Given the description of an element on the screen output the (x, y) to click on. 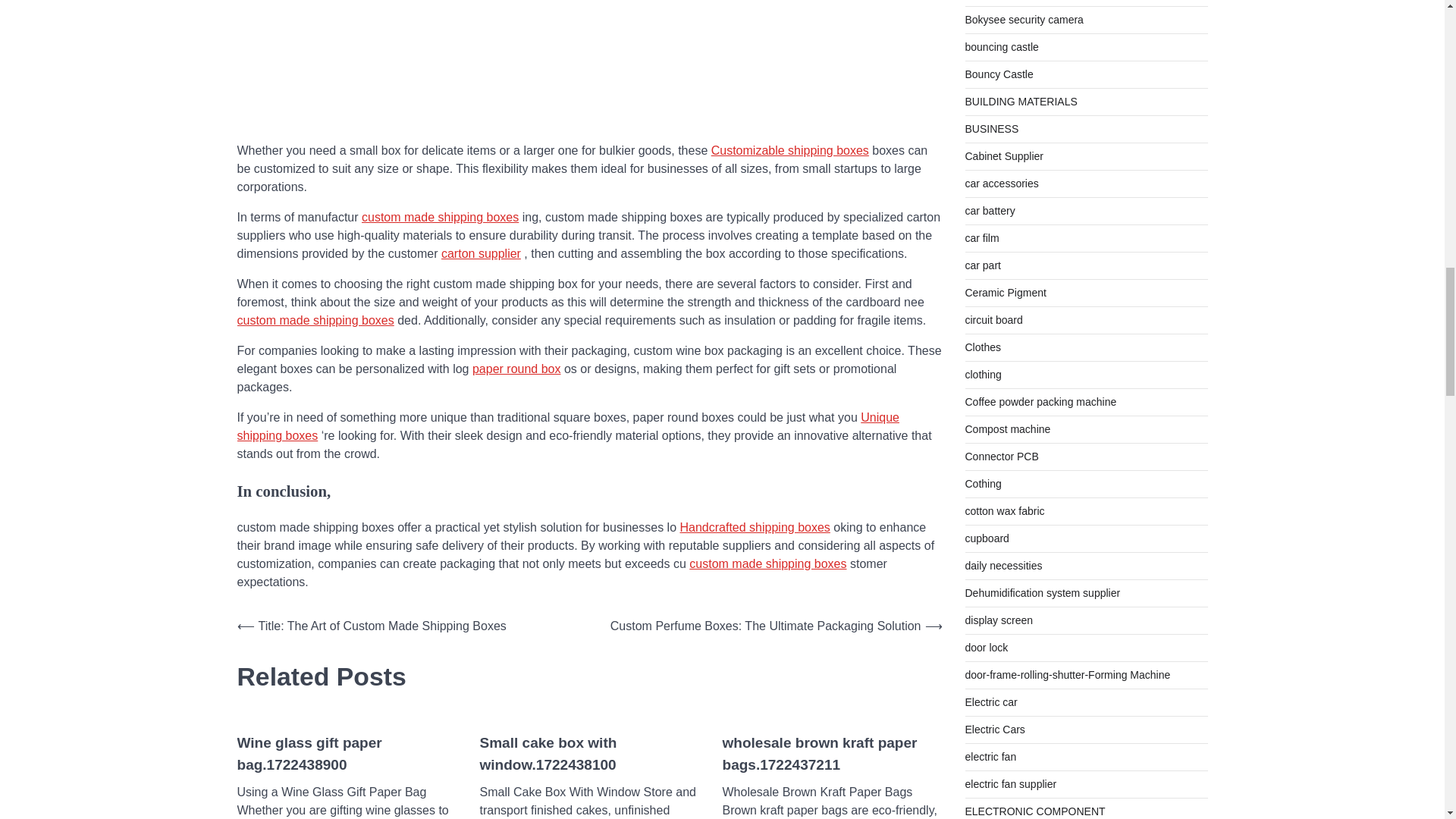
Small cake box with window.1722438100 (588, 753)
Customizable shipping boxes (790, 150)
Handcrafted shipping boxes (754, 526)
custom made shipping boxes (766, 563)
custom made shipping boxes (439, 216)
custom made shipping boxes (314, 319)
carton supplier (481, 253)
wholesale brown kraft paper bags.1722437211 (832, 753)
Wine glass gift paper bag.1722438900 (346, 753)
paper round box (515, 368)
Unique shipping boxes (566, 426)
